Given the description of an element on the screen output the (x, y) to click on. 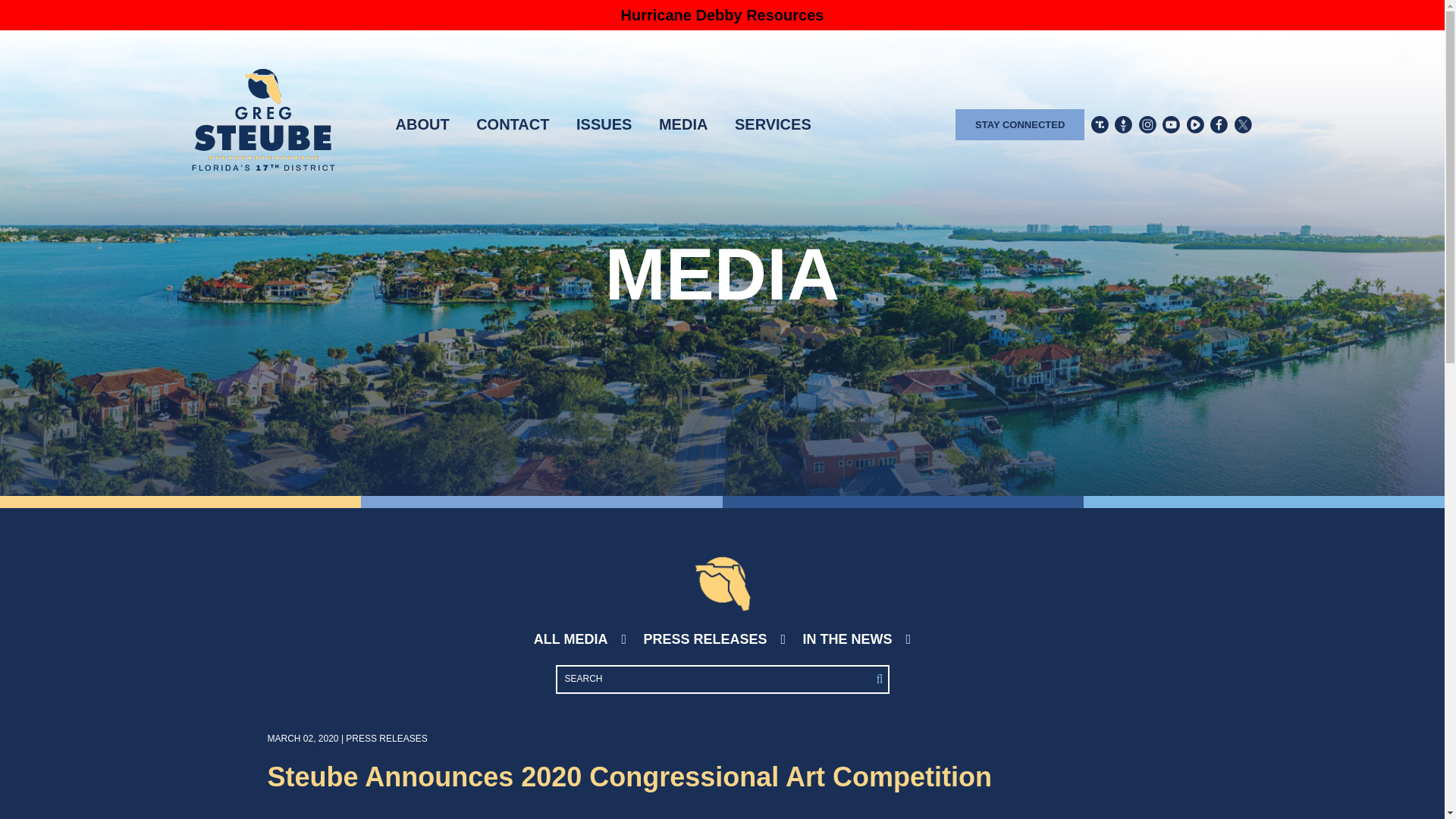
ABOUT (422, 124)
ISSUES (603, 124)
SERVICES (772, 124)
MEDIA (683, 124)
CONTACT (512, 124)
